Given the description of an element on the screen output the (x, y) to click on. 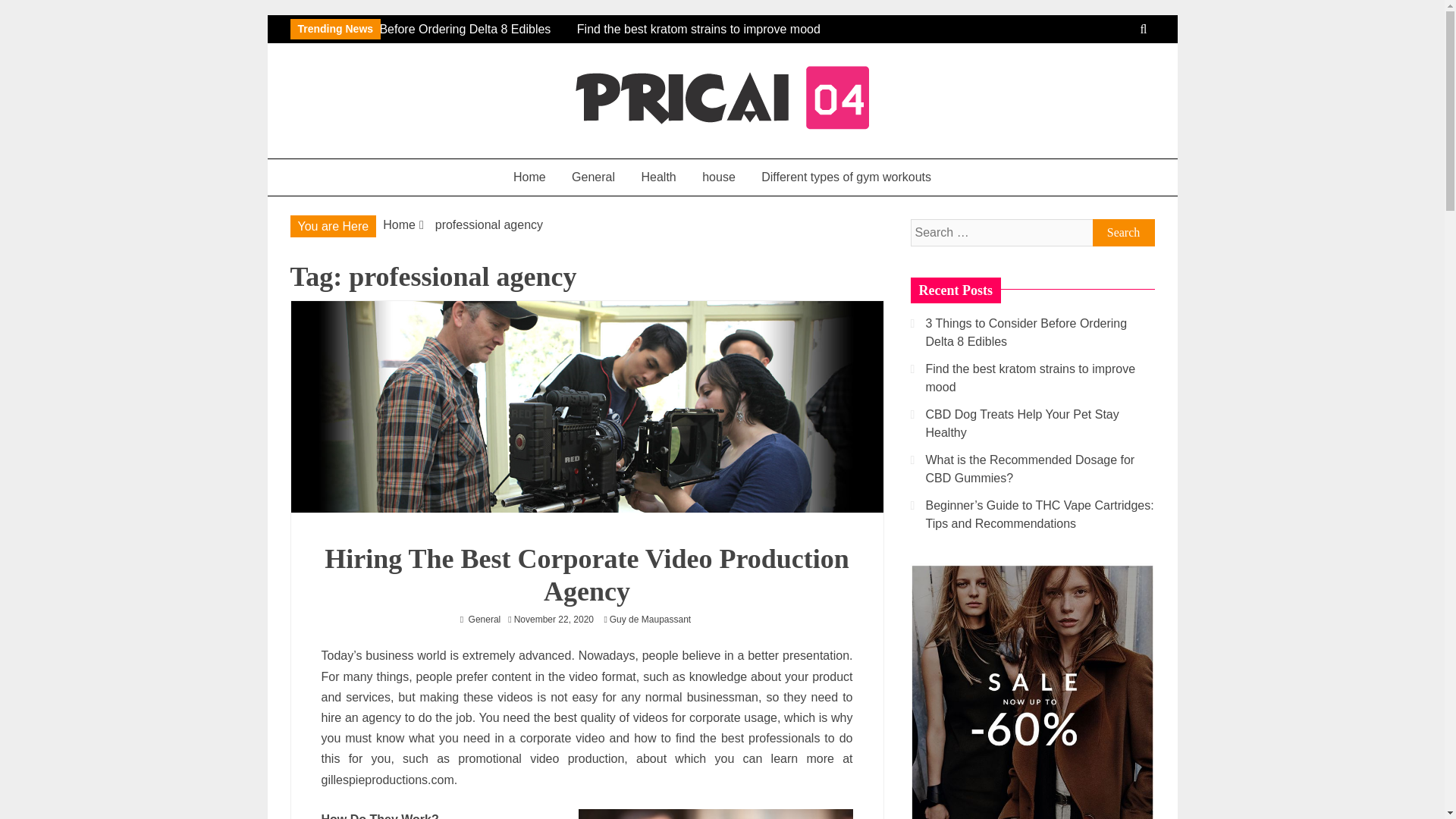
house (718, 176)
Find the best kratom strains to improve mood (540, 39)
3 Things to Consider Before Ordering Delta 8 Edibles (434, 29)
Search (1123, 232)
Home (529, 176)
Different types of gym workouts (845, 176)
Home (398, 224)
3 Things to Consider Before Ordering Delta 8 Edibles (1025, 332)
CBD Dog Treats Help Your Pet Stay Healthy (1021, 422)
Hiring The Best Corporate Video Production Agency (586, 574)
Find the best kratom strains to improve mood (549, 39)
November 22, 2020 (553, 619)
Search (1123, 232)
General (593, 176)
